Given the description of an element on the screen output the (x, y) to click on. 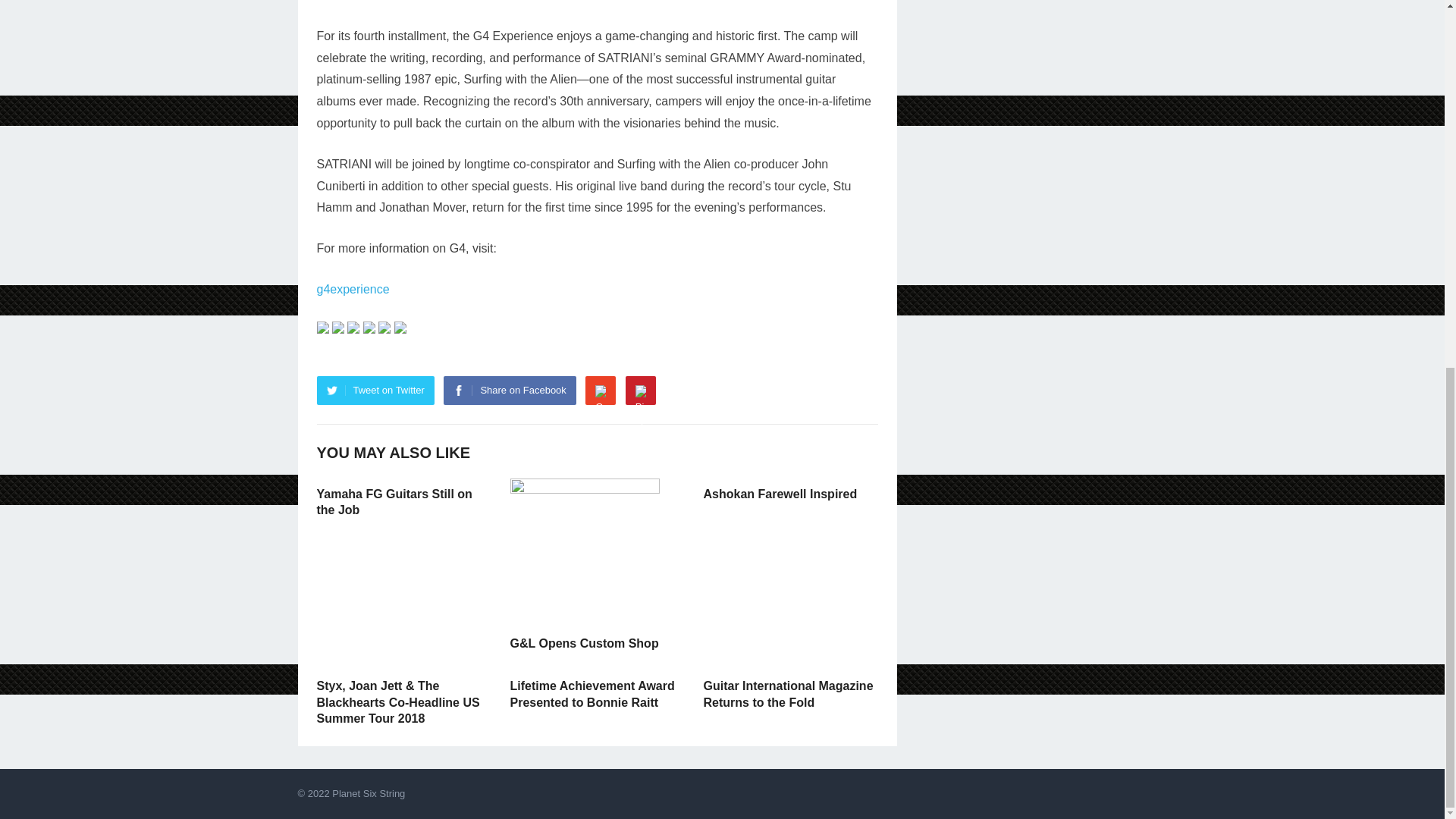
Tweet on Twitter (375, 389)
Ashokan Farewell Inspired (780, 493)
Guitar International Magazine Returns to the Fold (788, 694)
Share on Facebook (509, 389)
Lifetime Achievement Award Presented to Bonnie Raitt (591, 694)
Yamaha FG Guitars Still on the Job (394, 501)
Pinterest (641, 389)
g4experience (353, 288)
